Given the description of an element on the screen output the (x, y) to click on. 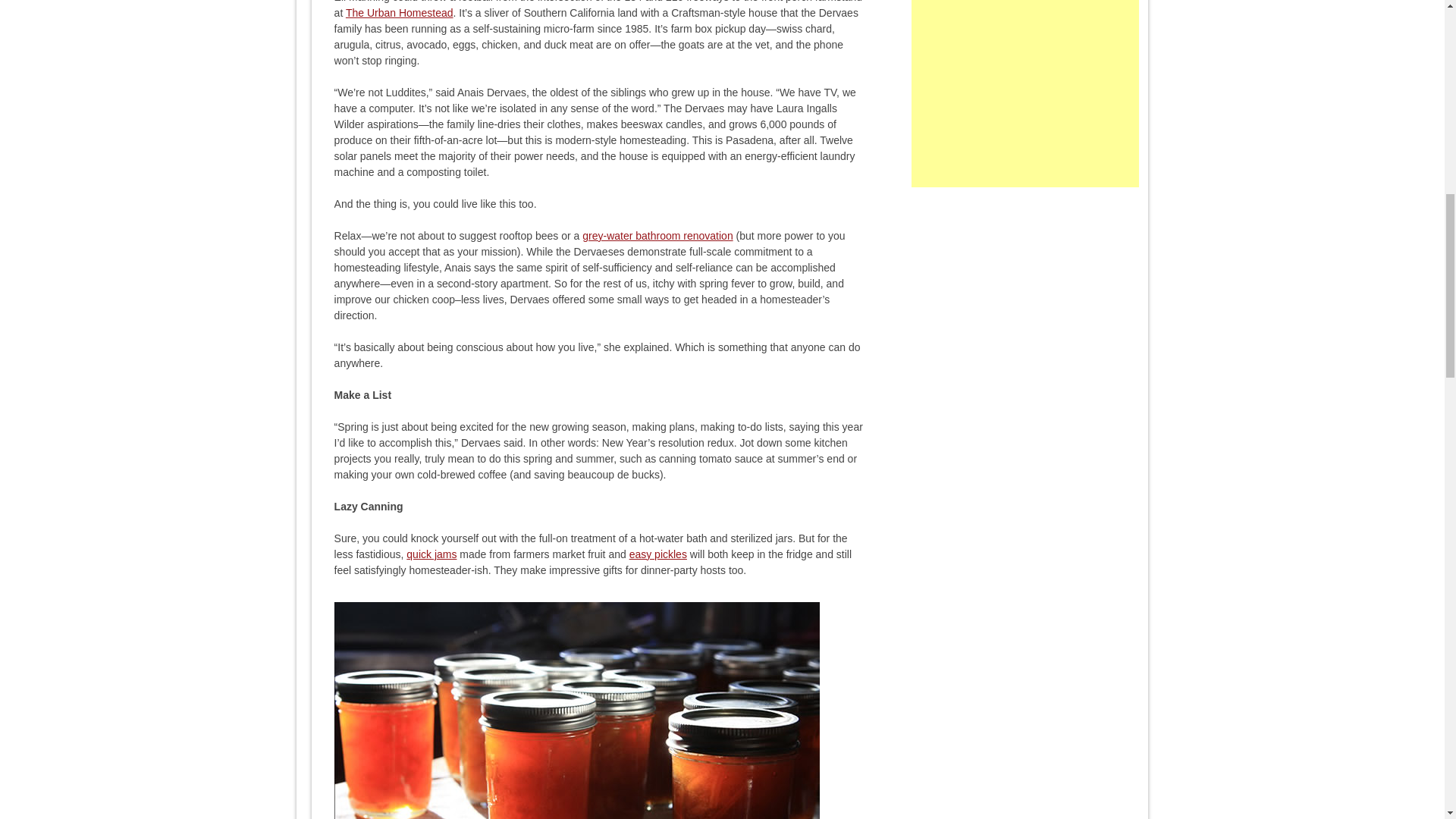
easy pickles (657, 553)
grey-water bathroom renovation (657, 235)
quick jam recipes (431, 553)
The Urban Homestead (399, 12)
quick jams (431, 553)
easy pickle recipe (657, 553)
grey-water bathroom renovation (657, 235)
The Urban Homestead (399, 12)
